Given the description of an element on the screen output the (x, y) to click on. 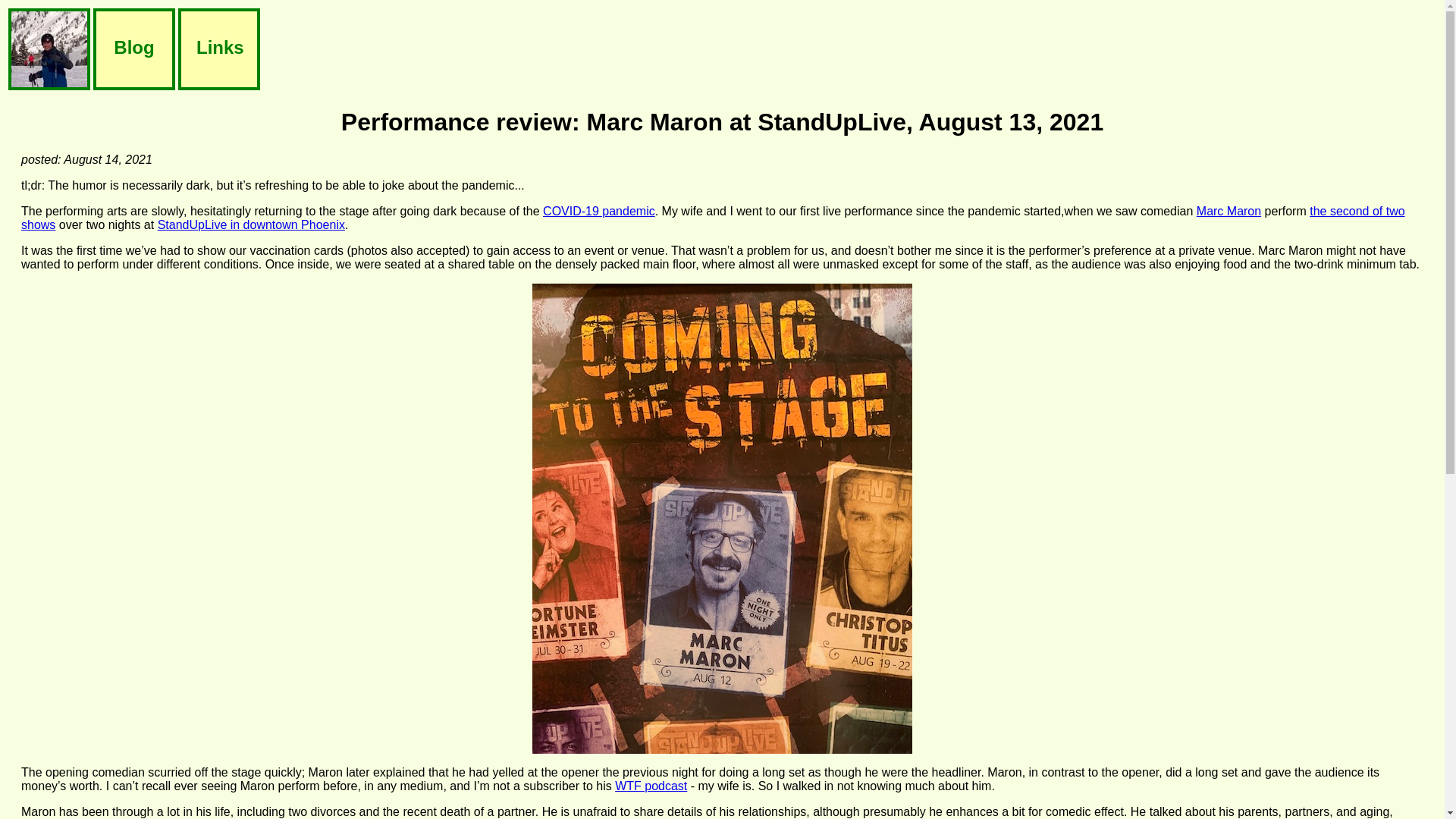
Links (218, 49)
COVID-19 pandemic (599, 210)
the second of two shows (713, 217)
Marc Maron (1228, 210)
StandUpLive in downtown Phoenix (251, 224)
WTF podcast (650, 785)
Blog (133, 49)
